Given the description of an element on the screen output the (x, y) to click on. 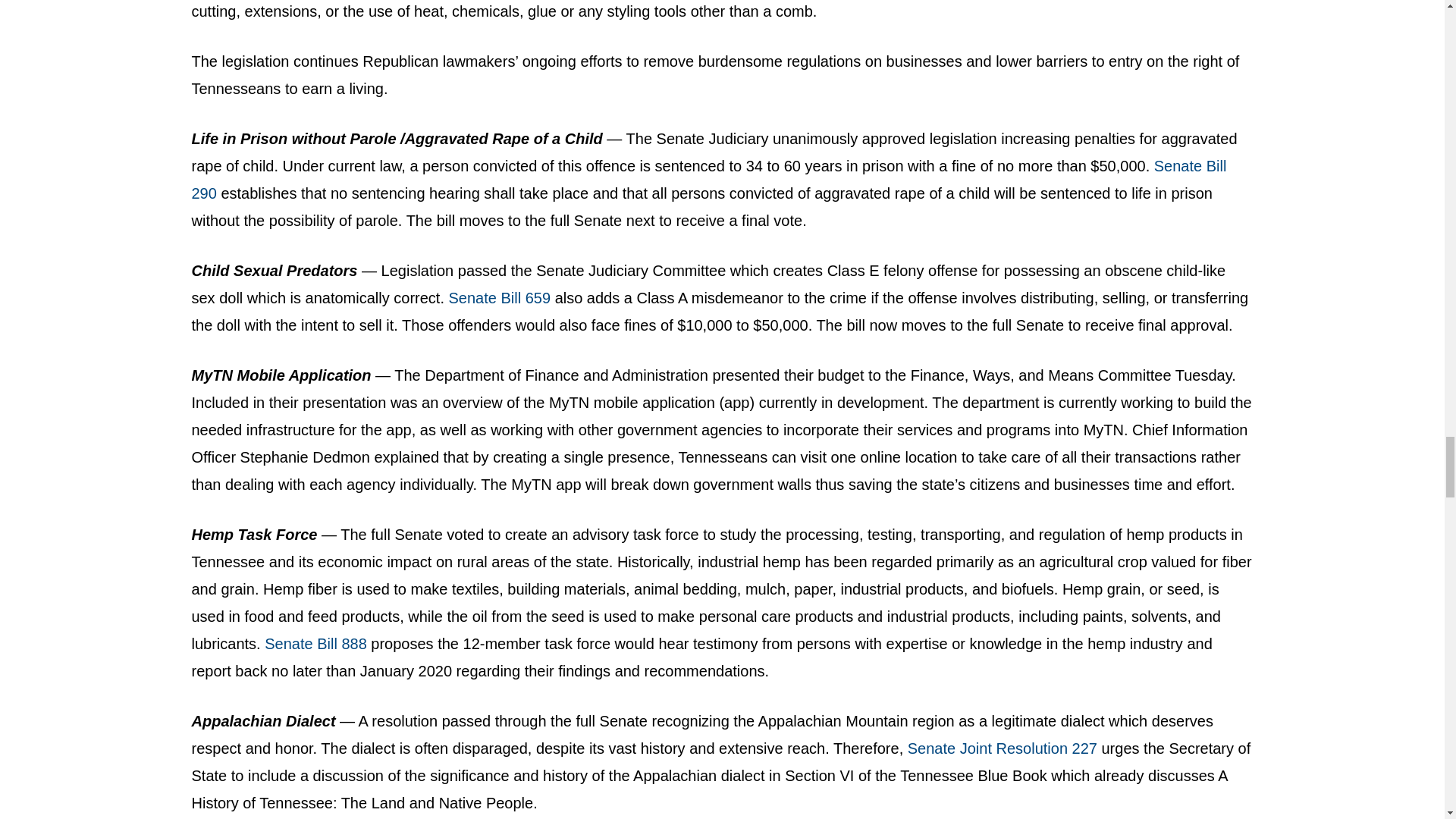
Senate Joint Resolution 227 (1004, 748)
Senate Bill 888 (315, 643)
Senate Bill 659 (501, 297)
Senate Bill 290 (707, 179)
